Given the description of an element on the screen output the (x, y) to click on. 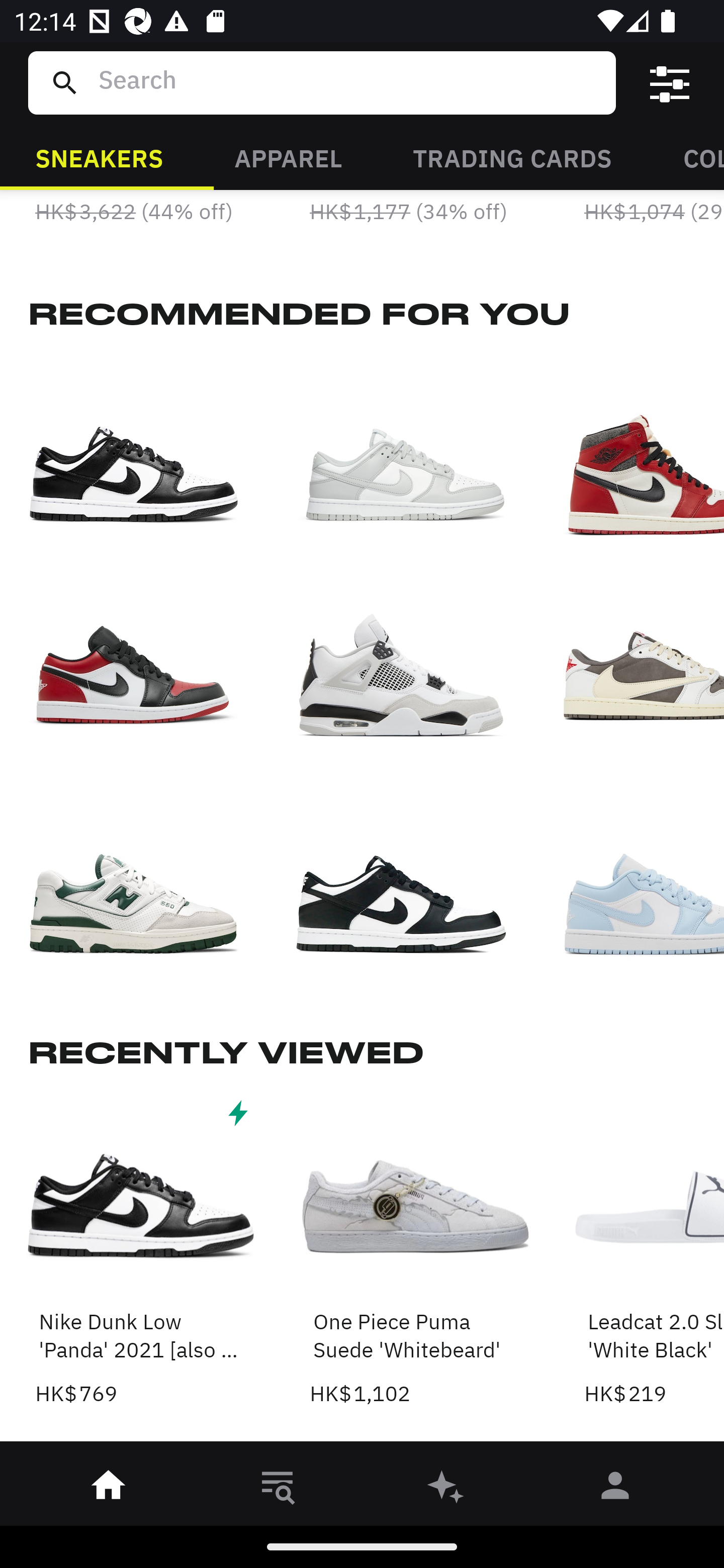
Search (349, 82)
 (669, 82)
SNEAKERS (99, 156)
APPAREL (287, 156)
TRADING CARDS (512, 156)
One Piece Puma Suede 'Whitebeard' HK$ 1,102 (414, 1250)
Leadcat 2.0 Slide 'White Black' HK$ 219 (654, 1250)
󰋜 (108, 1488)
󱎸 (277, 1488)
󰫢 (446, 1488)
󰀄 (615, 1488)
